Given the description of an element on the screen output the (x, y) to click on. 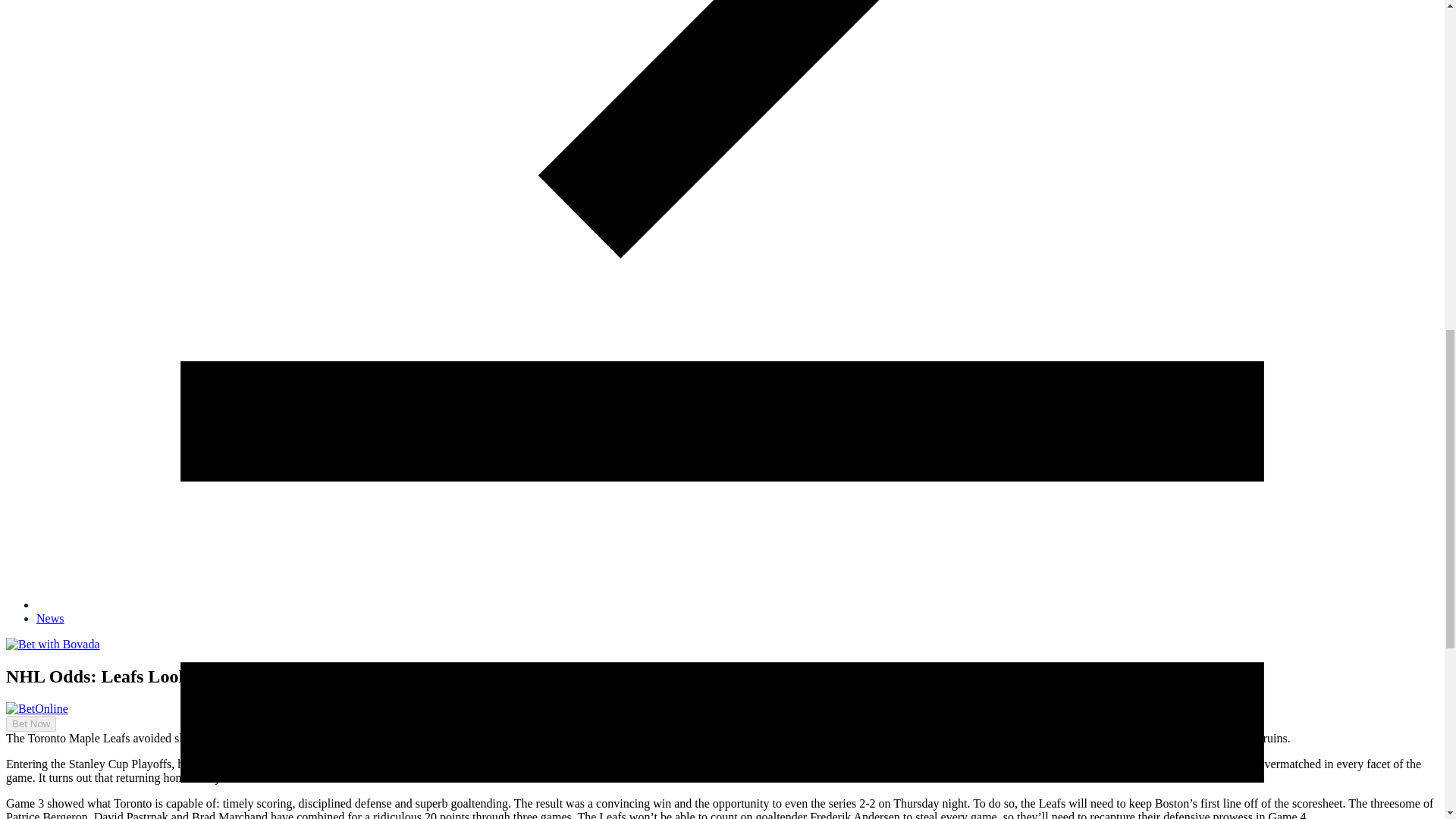
Bet Now (30, 723)
Bet Now (24, 759)
News (50, 617)
